Given the description of an element on the screen output the (x, y) to click on. 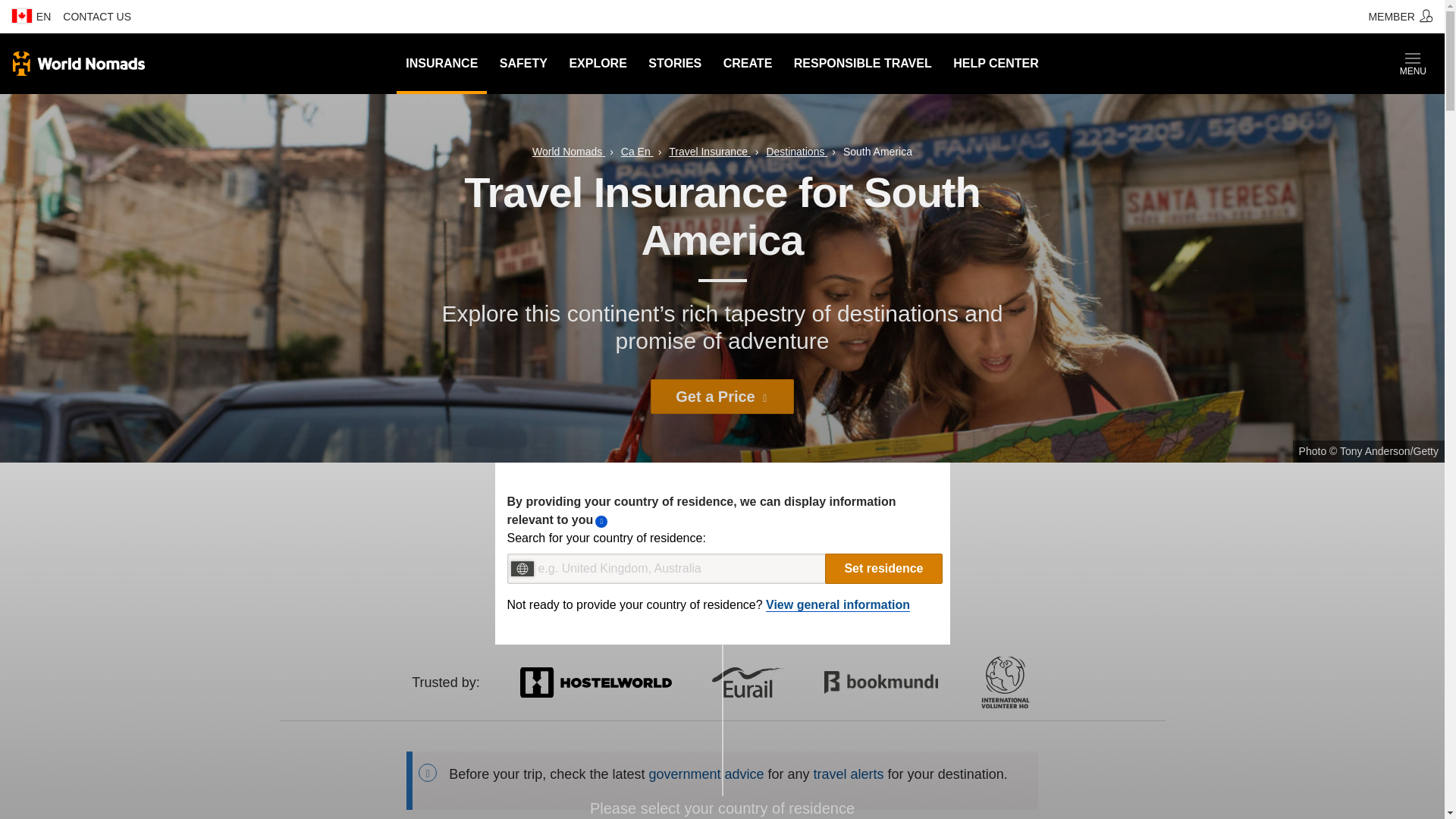
EN (30, 16)
EXPLORE (596, 63)
Flag of Canada (21, 15)
STORIES (674, 63)
INSURANCE (441, 63)
SAFETY (523, 63)
CONTACT US (96, 16)
World Nomads (78, 63)
MEMBER (1399, 16)
